Given the description of an element on the screen output the (x, y) to click on. 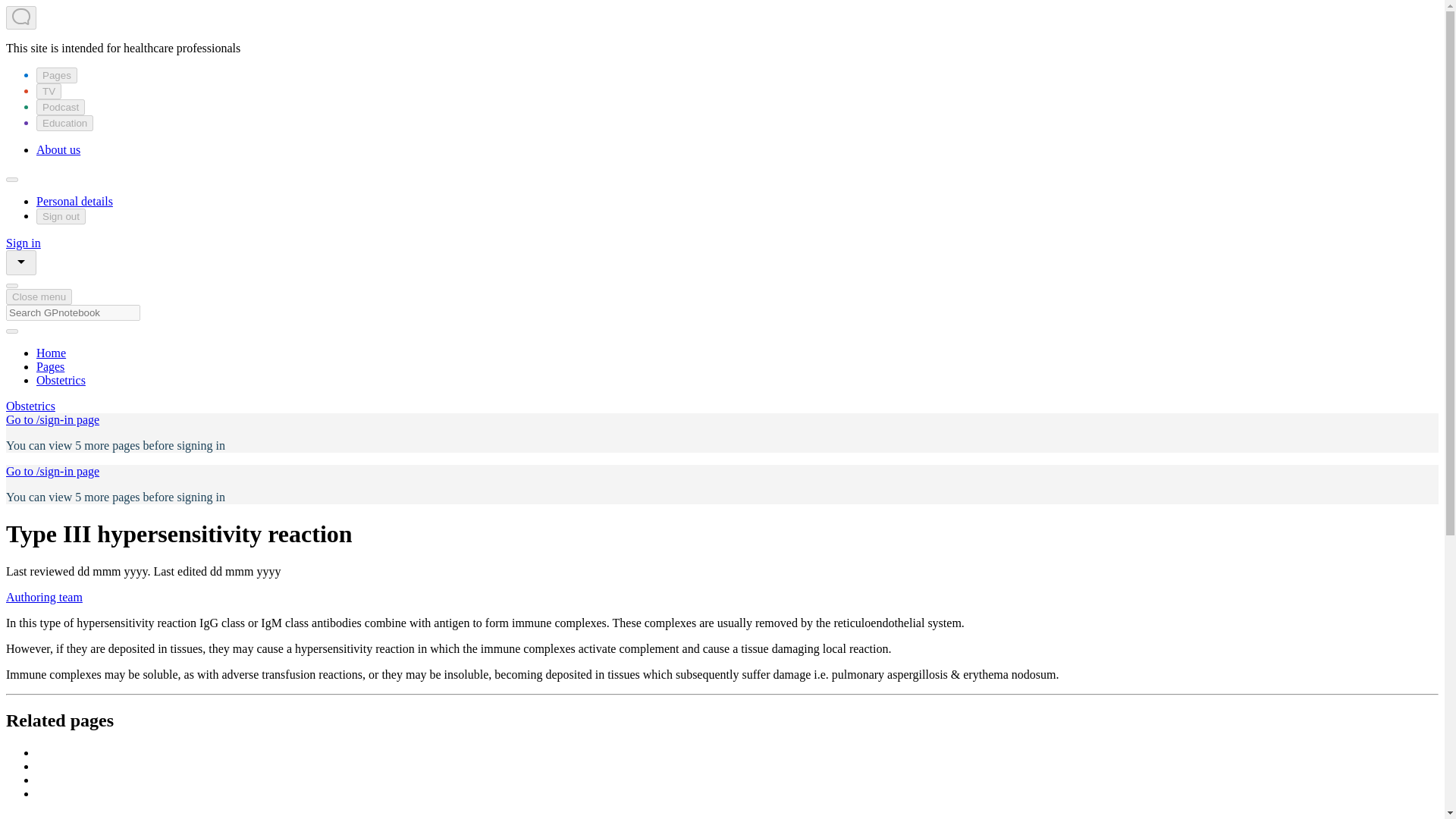
Authoring team (43, 596)
TV (48, 91)
Home (50, 352)
Education (64, 123)
Podcast (60, 107)
About us (58, 149)
Obstetrics (30, 405)
Sign in (22, 242)
Pages (50, 366)
Pages (56, 75)
